Given the description of an element on the screen output the (x, y) to click on. 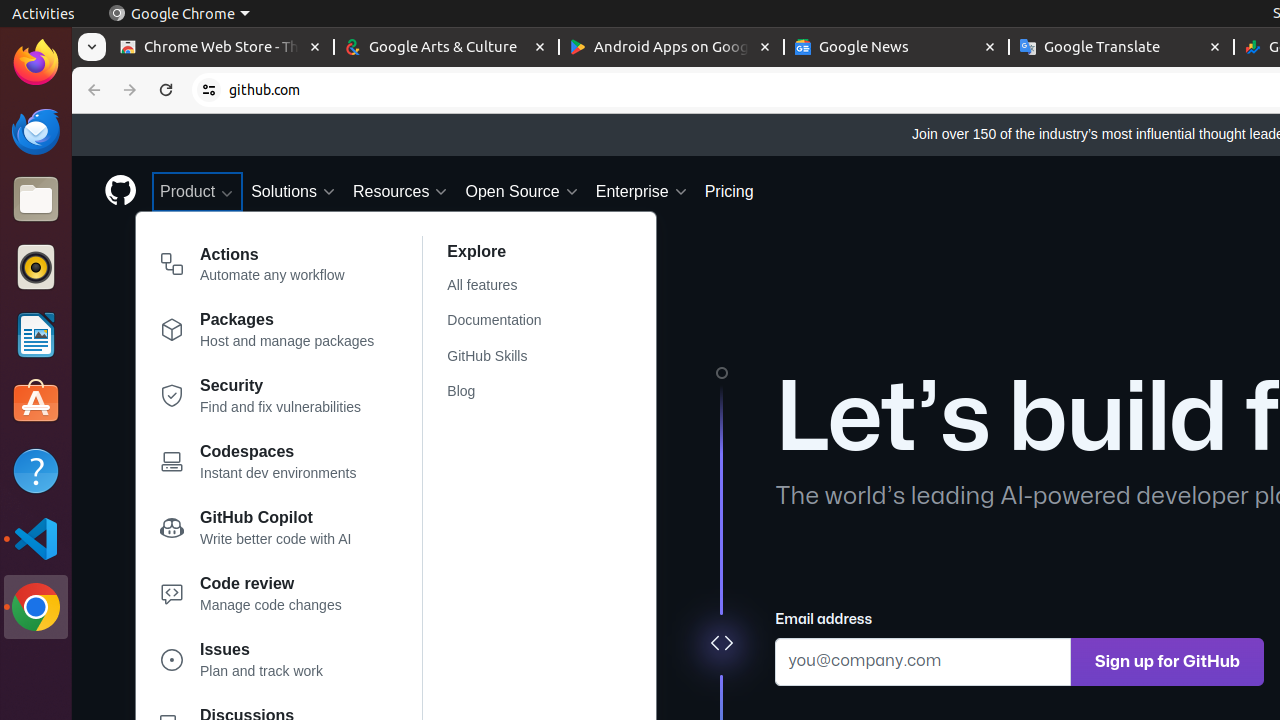
GitHub Copilot Write better code with AI Element type: link (267, 532)
Google Chrome Element type: push-button (36, 607)
Enterprise Element type: push-button (642, 191)
All features Element type: link (506, 285)
Visual Studio Code Element type: push-button (36, 538)
